Given the description of an element on the screen output the (x, y) to click on. 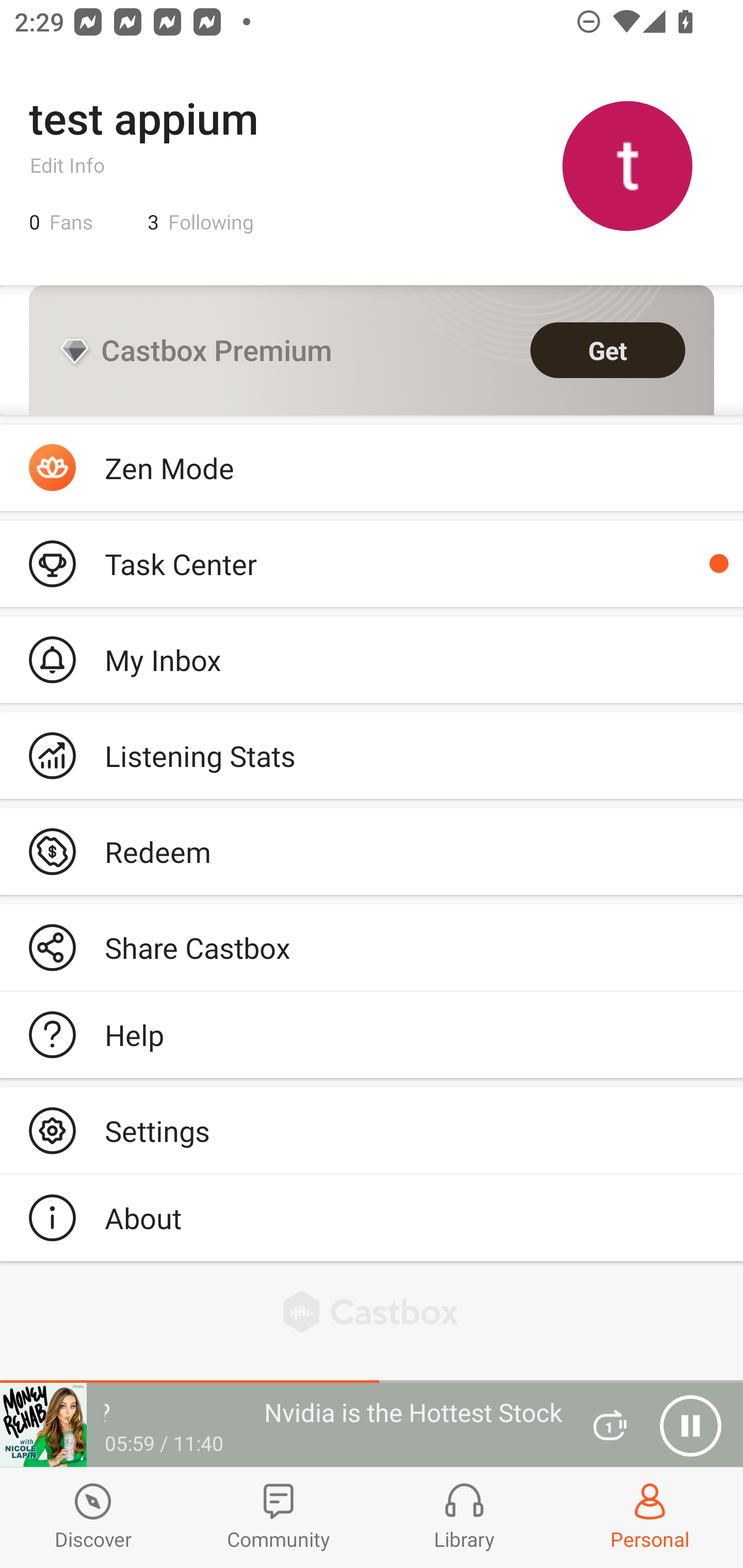
test appium Edit Info 0 Fans 3 Following (371, 165)
0 Fans (60, 221)
3 Following (200, 221)
Castbox Premium Get (371, 350)
Get (607, 350)
Zen Mode (371, 467)
Podcaster  Task Center (371, 563)
 My Inbox (371, 659)
 Listening Stats (371, 755)
 Redeem (371, 851)
 Share Castbox (371, 947)
 Help (371, 1034)
 Settings (371, 1130)
 About (371, 1217)
Pause (690, 1425)
Discover (92, 1517)
Community (278, 1517)
Library (464, 1517)
Profiles and Settings Personal (650, 1517)
